Given the description of an element on the screen output the (x, y) to click on. 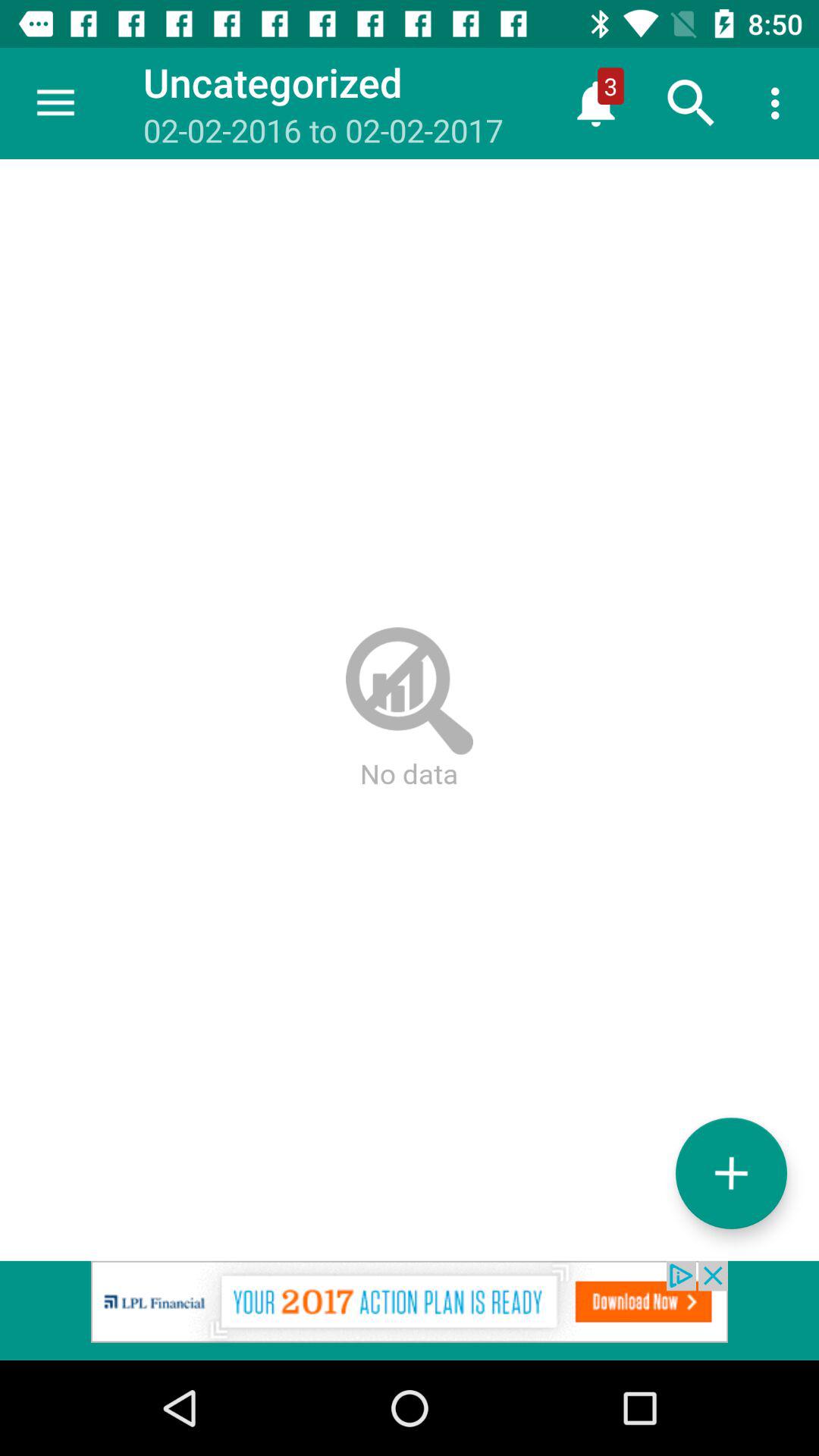
swtich autoplay option (731, 1173)
